Given the description of an element on the screen output the (x, y) to click on. 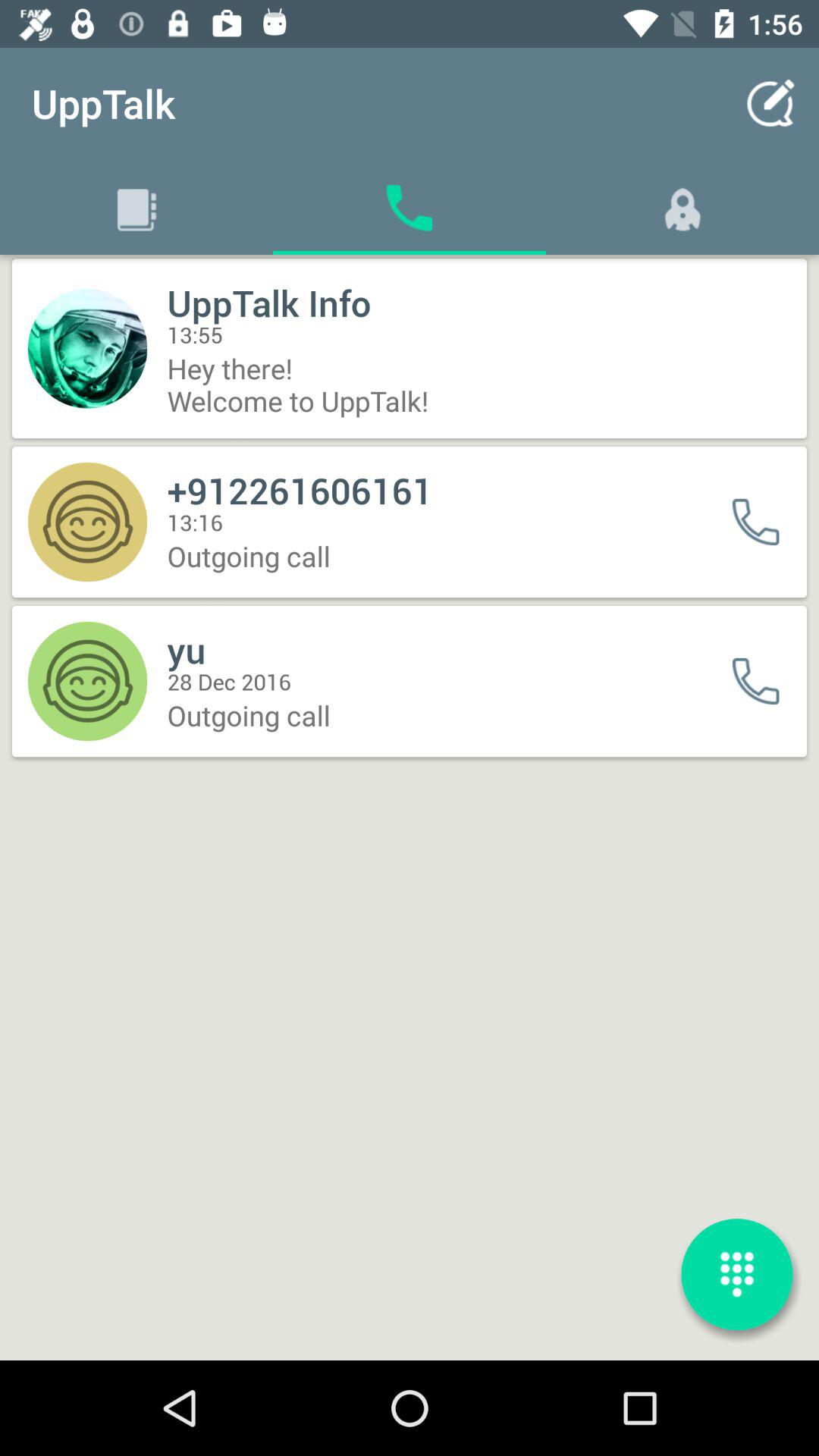
select first caller icon from bottom (765, 681)
click on the icon of the first contact (87, 348)
select a symbol which is right to phone (682, 207)
